Given the description of an element on the screen output the (x, y) to click on. 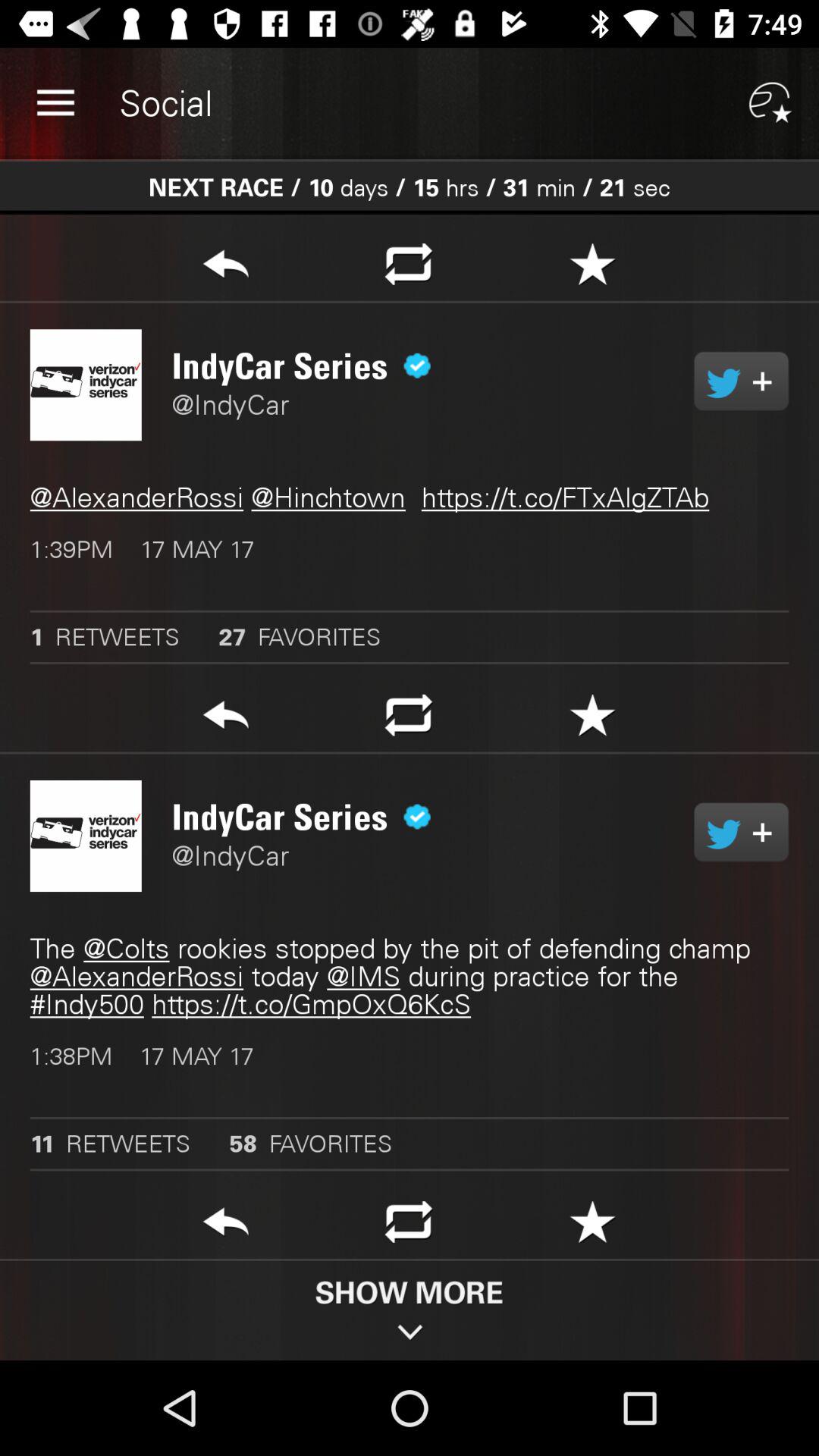
launch the colts rookies icon (409, 976)
